Given the description of an element on the screen output the (x, y) to click on. 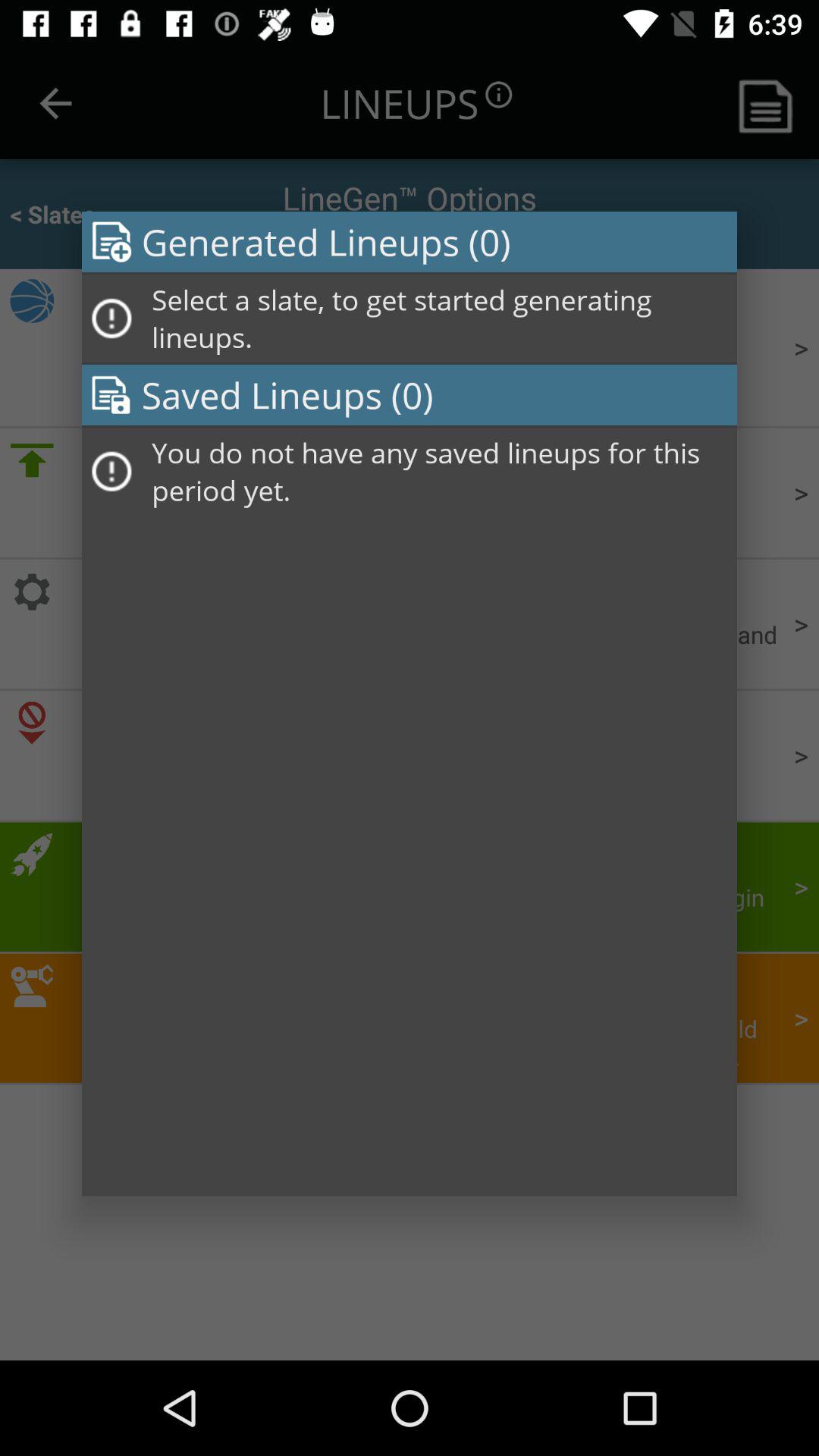
click item below the generated lineups (0) (438, 318)
